Given the description of an element on the screen output the (x, y) to click on. 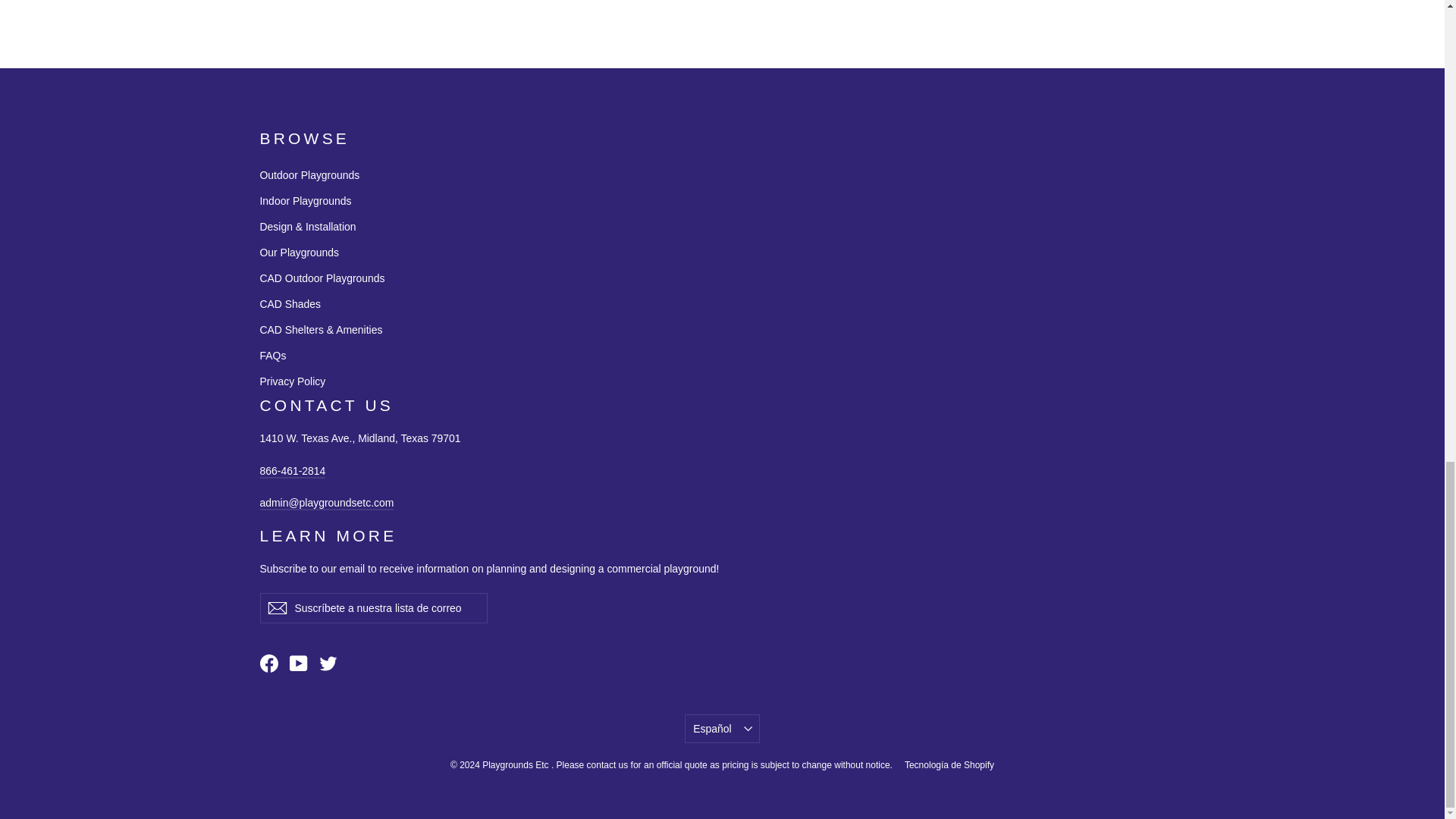
Playgrounds Etc en Twitter (327, 662)
Playgrounds Etc en Facebook (268, 662)
Playgrounds Etc en YouTube (298, 662)
Contact (326, 503)
tel:866-461-2814 (291, 471)
